Given the description of an element on the screen output the (x, y) to click on. 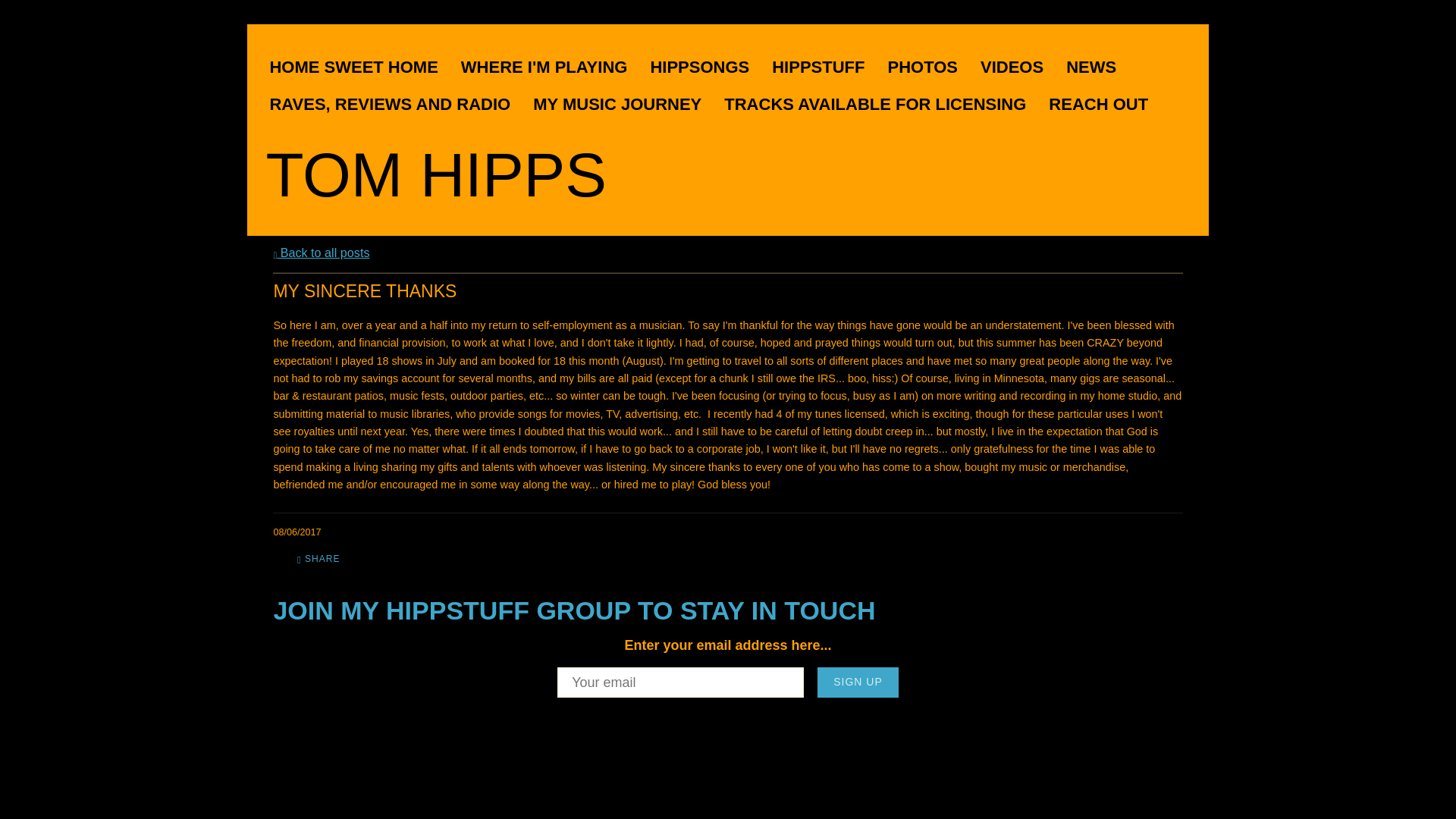
TRACKS AVAILABLE FOR LICENSING (882, 103)
NEWS (1098, 66)
PHOTOS (929, 66)
RAVES, REVIEWS AND RADIO (397, 103)
TOM HIPPS (435, 189)
HIPPSTUFF (825, 66)
WHERE I'M PLAYING (552, 66)
VIDEOS (1018, 66)
HOME SWEET HOME (360, 66)
Share My Sincere Thanks (318, 558)
